Given the description of an element on the screen output the (x, y) to click on. 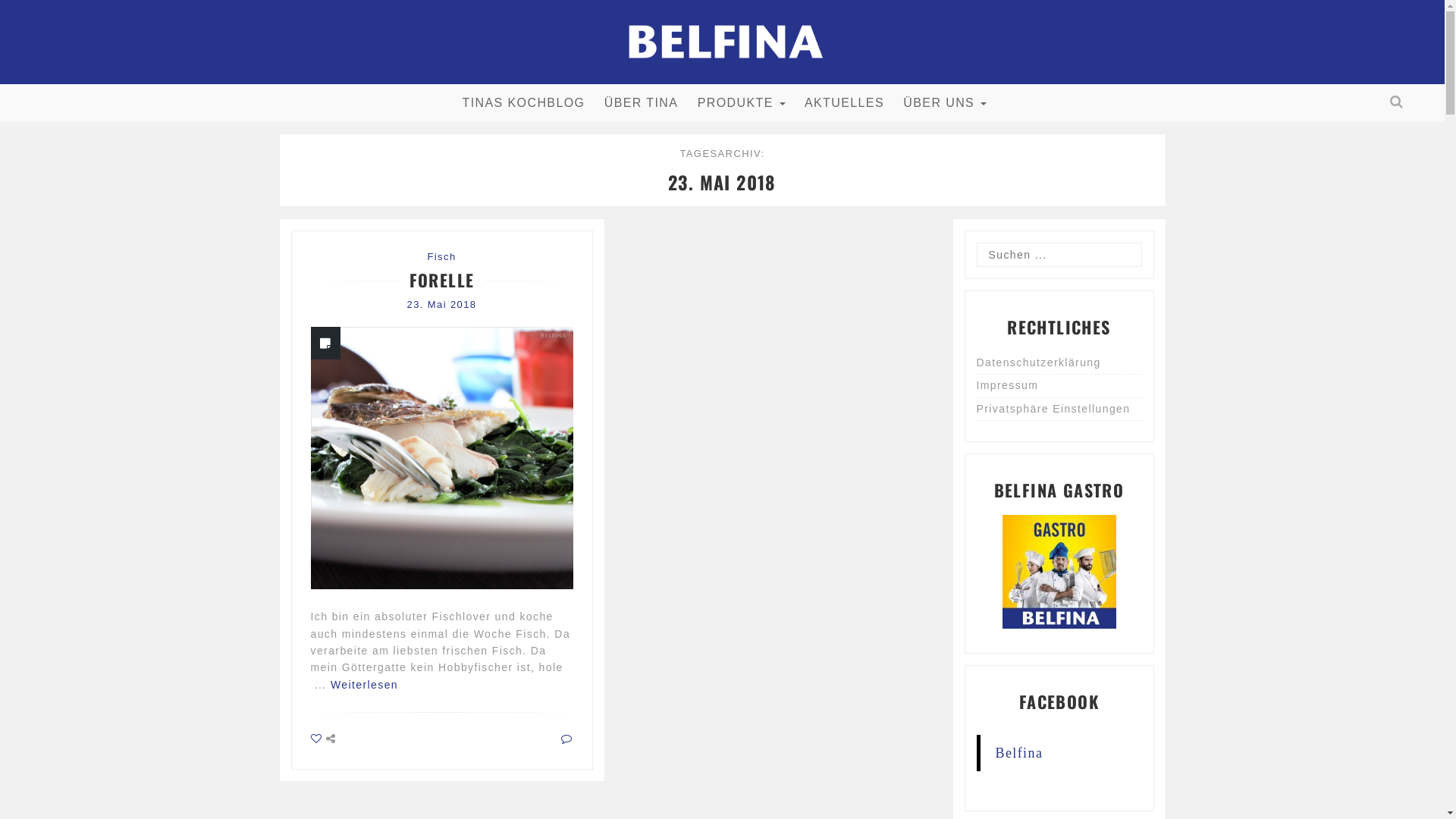
PRODUKTE Element type: text (741, 103)
Belfina Element type: text (1018, 752)
FORELLE Element type: text (442, 279)
Weiterlesen Element type: text (364, 684)
23. Mai 2018 Element type: text (441, 304)
Fisch Element type: text (440, 256)
AKTUELLES Element type: text (844, 103)
 TINAS KOCHBLOG Element type: text (521, 103)
Impressum Element type: text (1059, 385)
So was Element type: hover (316, 738)
